Given the description of an element on the screen output the (x, y) to click on. 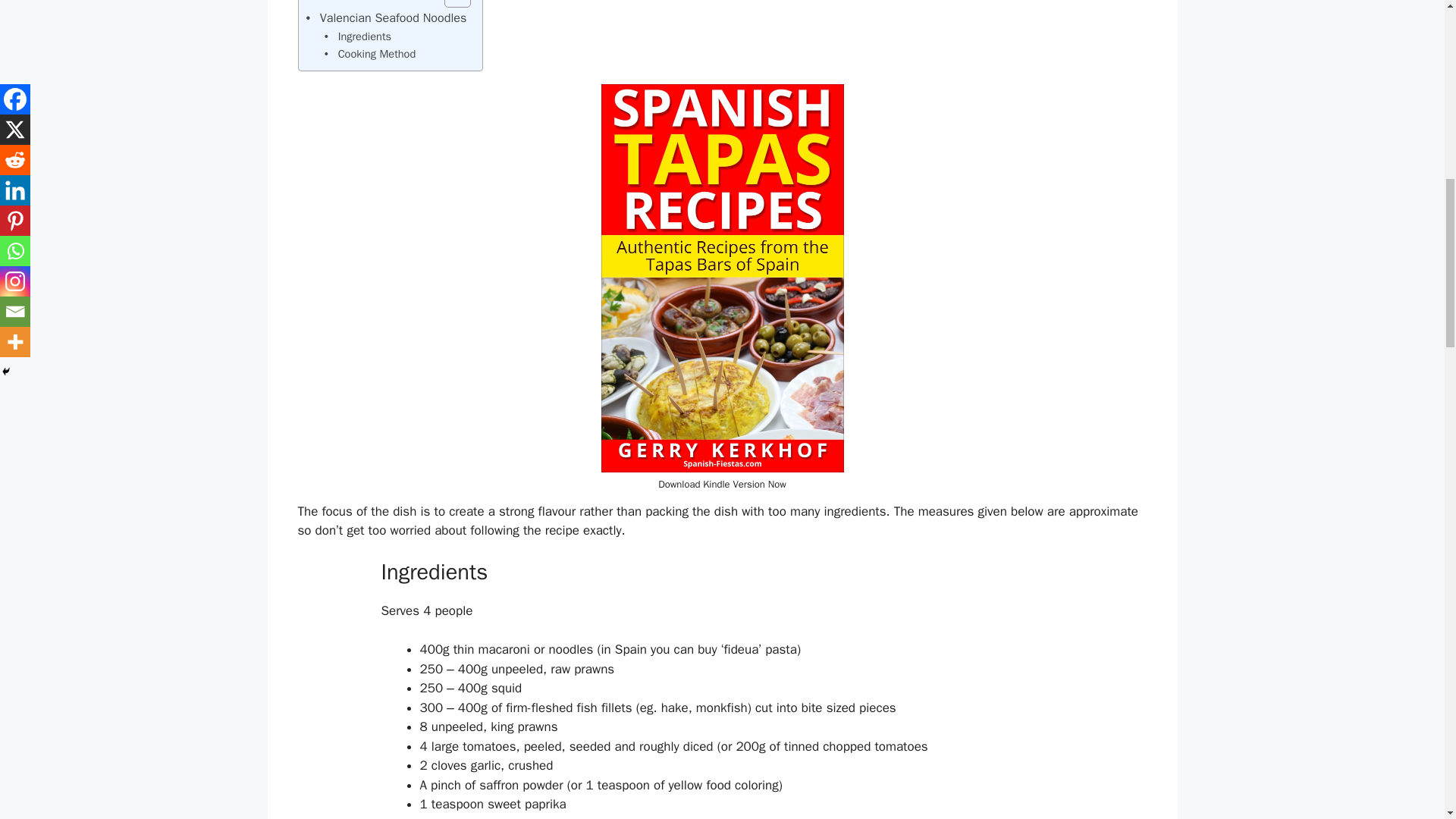
Valencian Seafood Noodles (386, 17)
Cooking Method (370, 54)
Cooking Method (370, 54)
Ingredients (357, 36)
Valencian Seafood Noodles (386, 17)
Ingredients (357, 36)
